Given the description of an element on the screen output the (x, y) to click on. 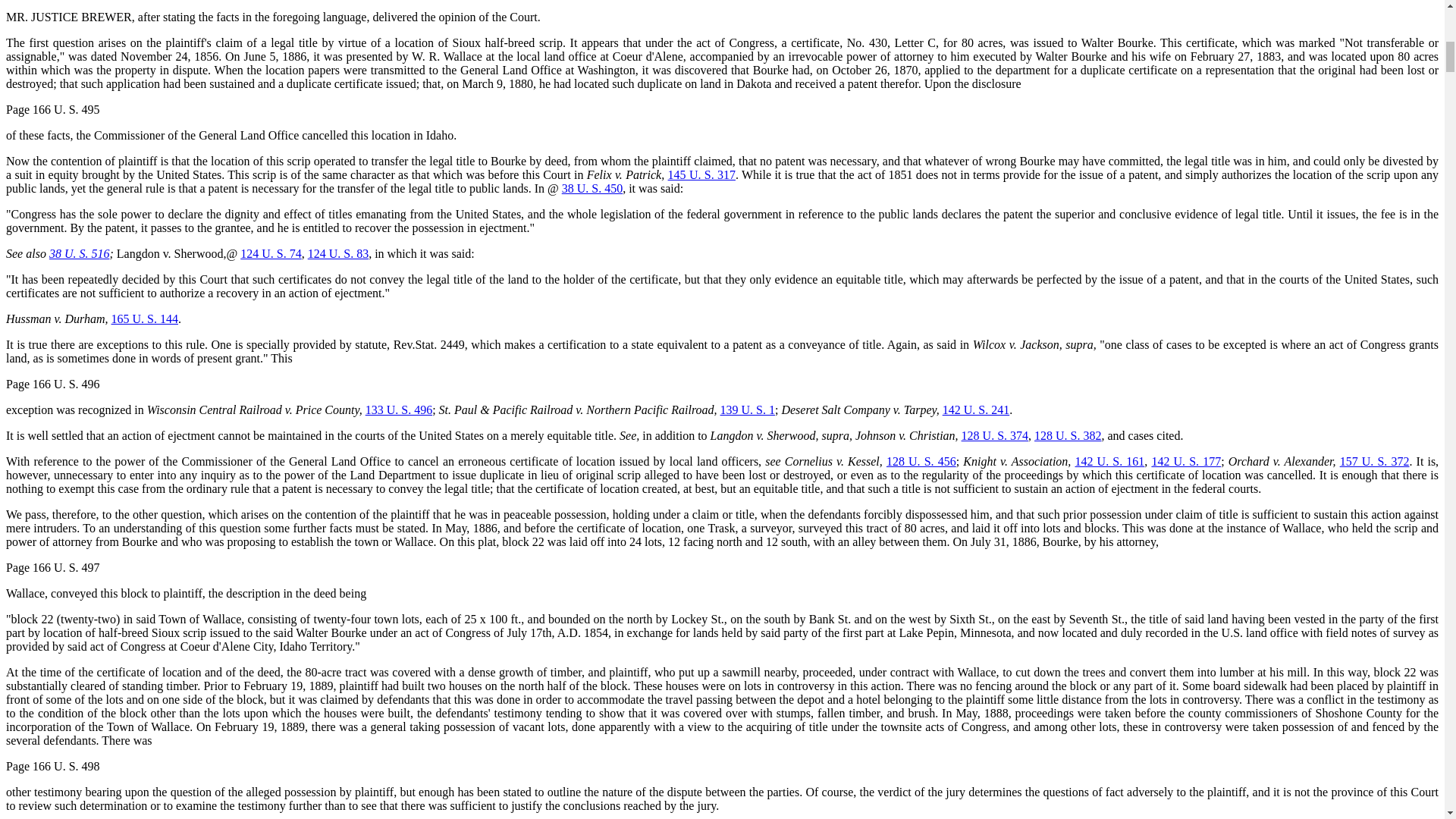
Page 166 U. S. 498 (52, 766)
38 U. S. 516 (79, 253)
133 U. S. 496 (398, 409)
124 U. S. 83 (337, 253)
Page 166 U. S. 495 (52, 109)
128 U. S. 456 (921, 461)
142 U. S. 161 (1109, 461)
165 U. S. 144 (144, 318)
145 U. S. 317 (701, 174)
157 U. S. 372 (1374, 461)
